Given the description of an element on the screen output the (x, y) to click on. 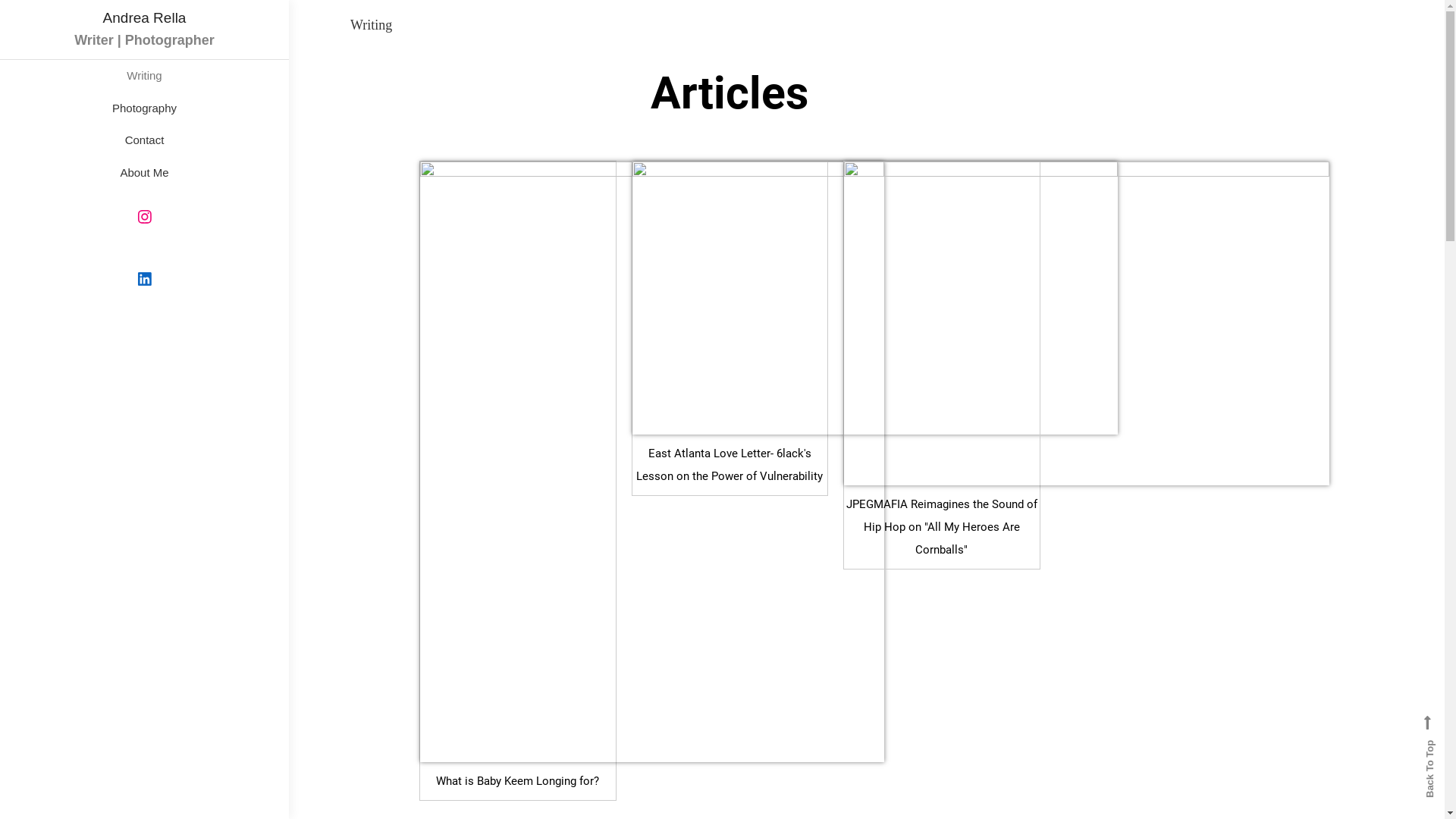
About Me Element type: text (144, 172)
Writing Element type: text (144, 75)
Contact Element type: text (144, 140)
Photography Element type: text (144, 108)
Andrea Rella Element type: text (144, 17)
